Given the description of an element on the screen output the (x, y) to click on. 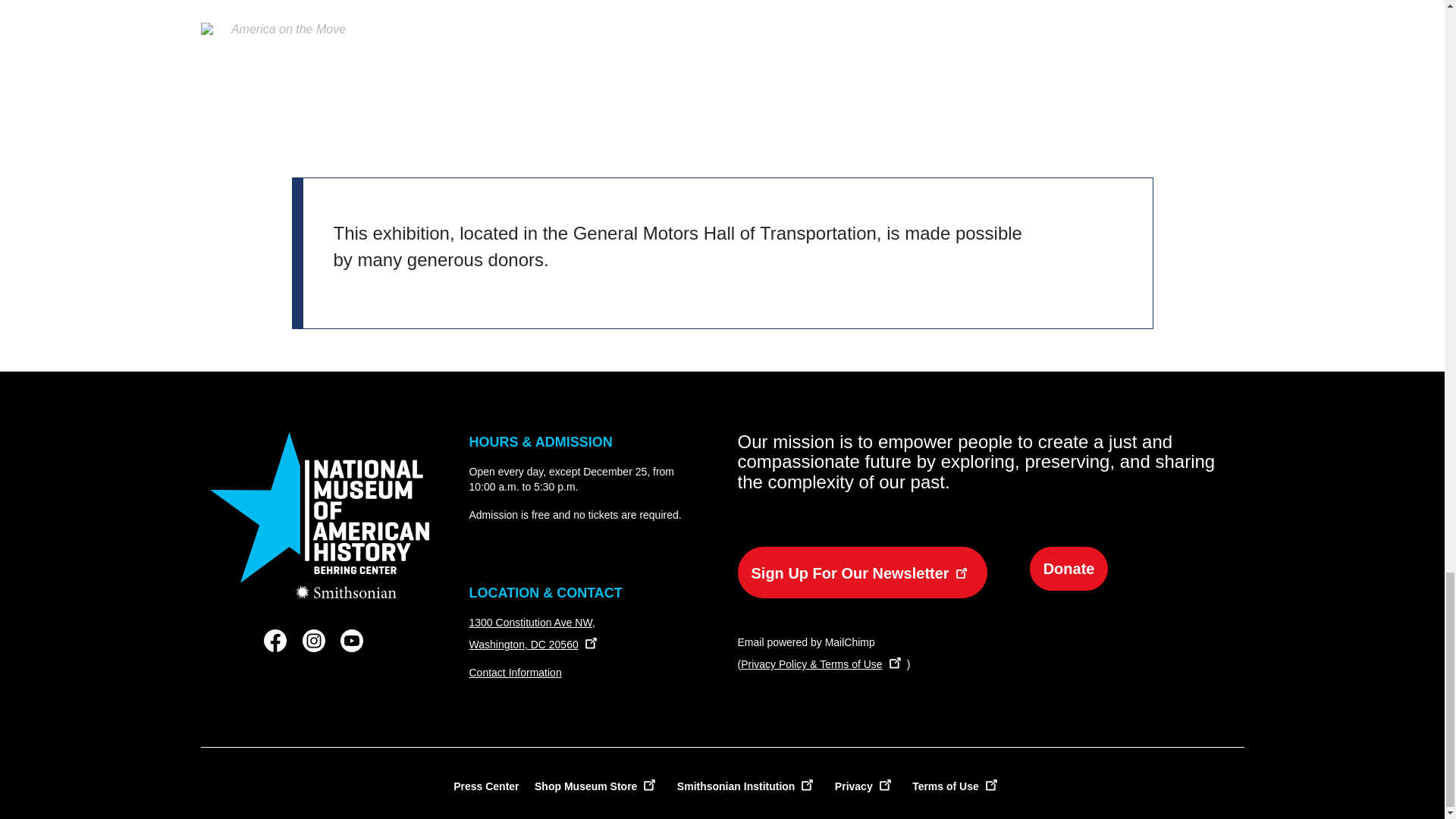
Visitors at the America on the Move exhibition (985, 5)
Visitors at the America on the Move exhibition (457, 5)
Visitors at the America on the Move exhibition (809, 5)
Visitors at the America on the Move exhibition (282, 5)
Visitors at the America on the Move exhibition (1161, 5)
Visitors at the America on the Move exhibition (282, 78)
Visitors at the America on the Move exhibition (633, 5)
